Given the description of an element on the screen output the (x, y) to click on. 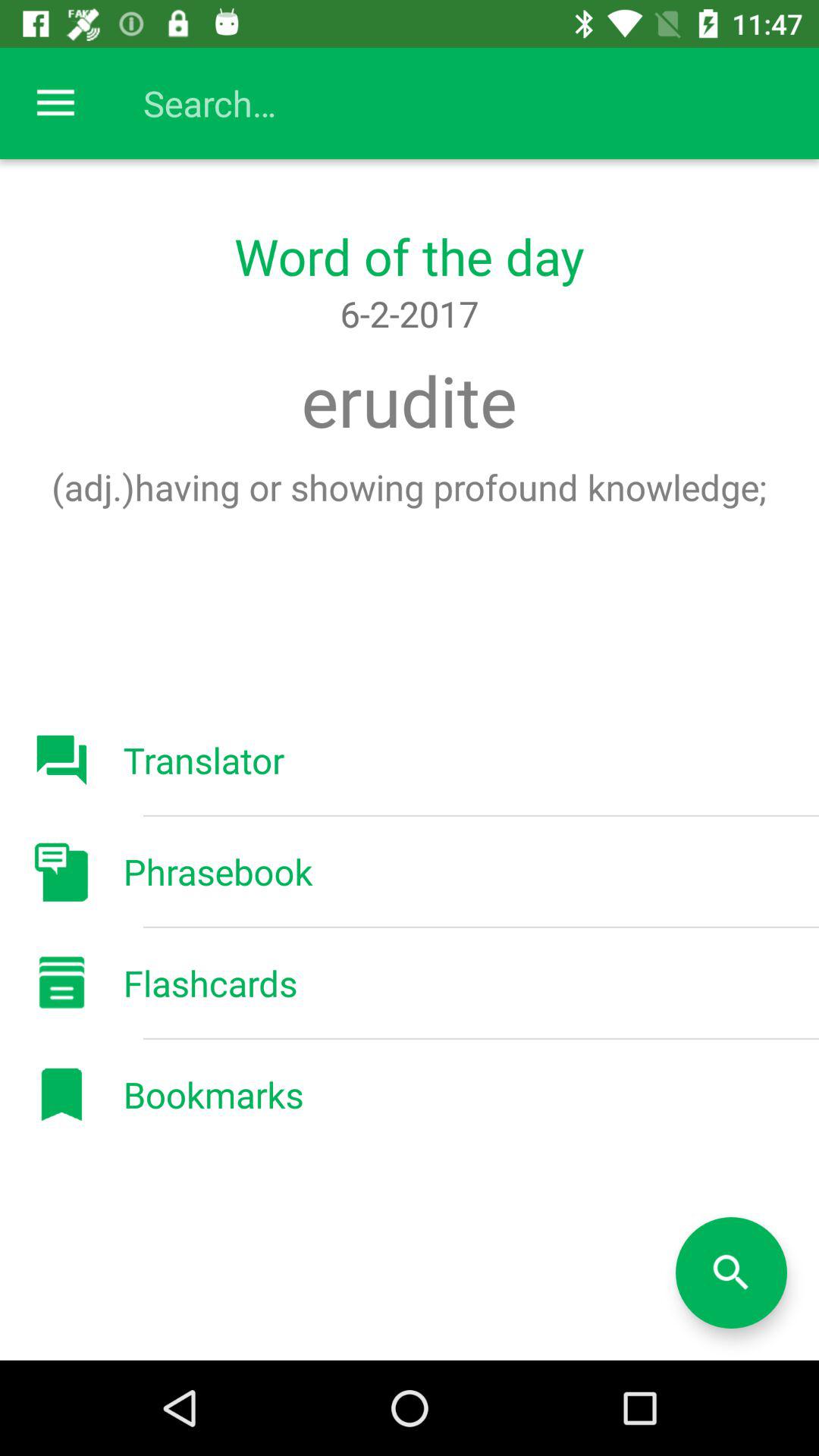
press the bookmarks item (213, 1094)
